Given the description of an element on the screen output the (x, y) to click on. 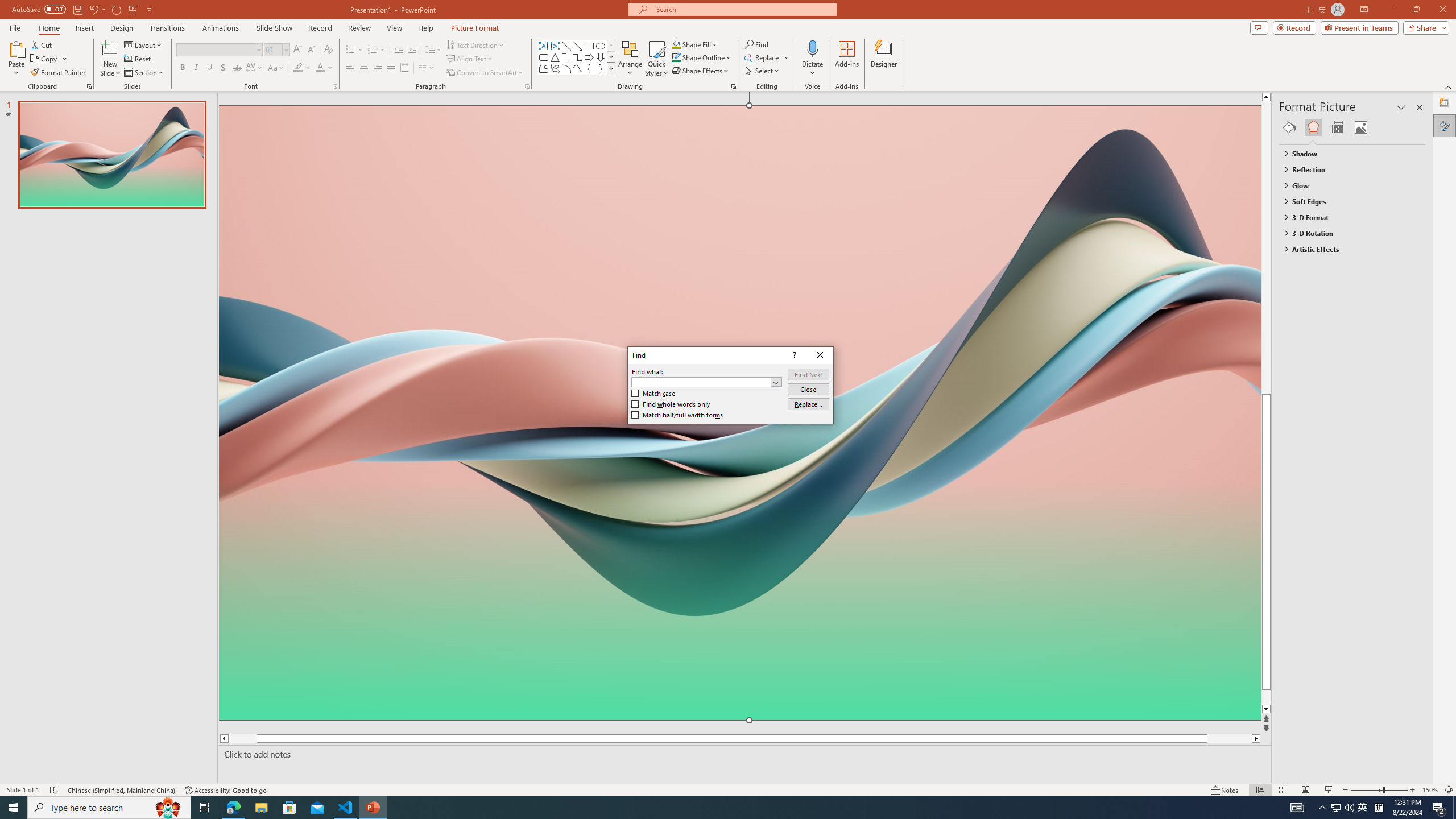
Class: NetUIGalleryContainer (1352, 126)
Accessibility Checker Accessibility: Good to go (1362, 807)
Line down (226, 790)
Italic (1287, 709)
Increase Indent (195, 67)
Reflection (412, 49)
3-D Format (1347, 169)
